Given the description of an element on the screen output the (x, y) to click on. 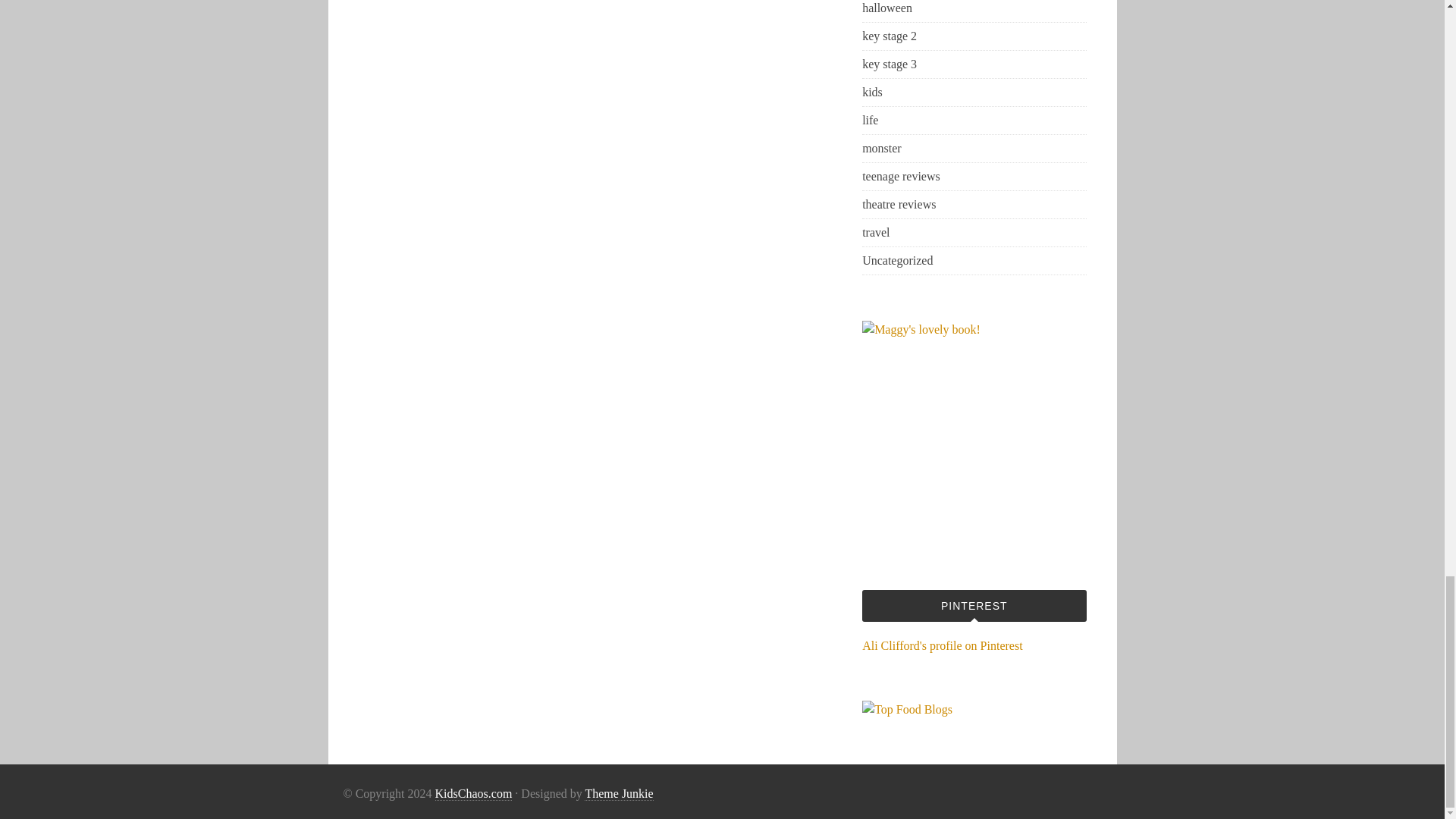
Search for recipes on Alldishes.co.uk (906, 708)
Maggy Woodley Craft book (973, 432)
